Given the description of an element on the screen output the (x, y) to click on. 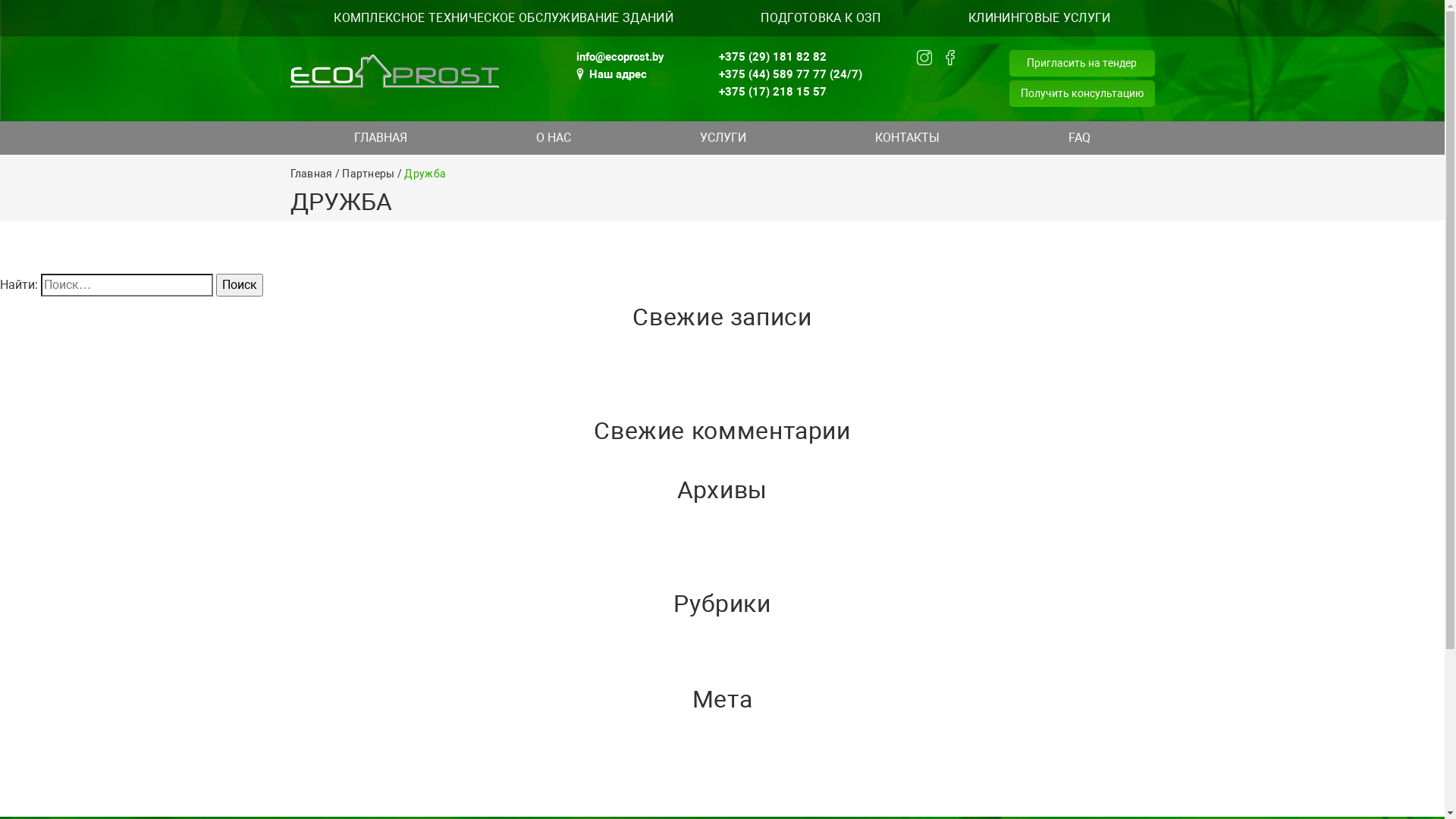
FAQ Element type: text (1079, 137)
WordPress.org Element type: text (39, 807)
+375 (17) 218 15 57 Element type: text (790, 91)
info@ecoprost.by Element type: text (620, 56)
+375 (44) 589 77 77 (24/7) Element type: text (790, 74)
+375 (29) 181 82 82 Element type: text (790, 56)
